Given the description of an element on the screen output the (x, y) to click on. 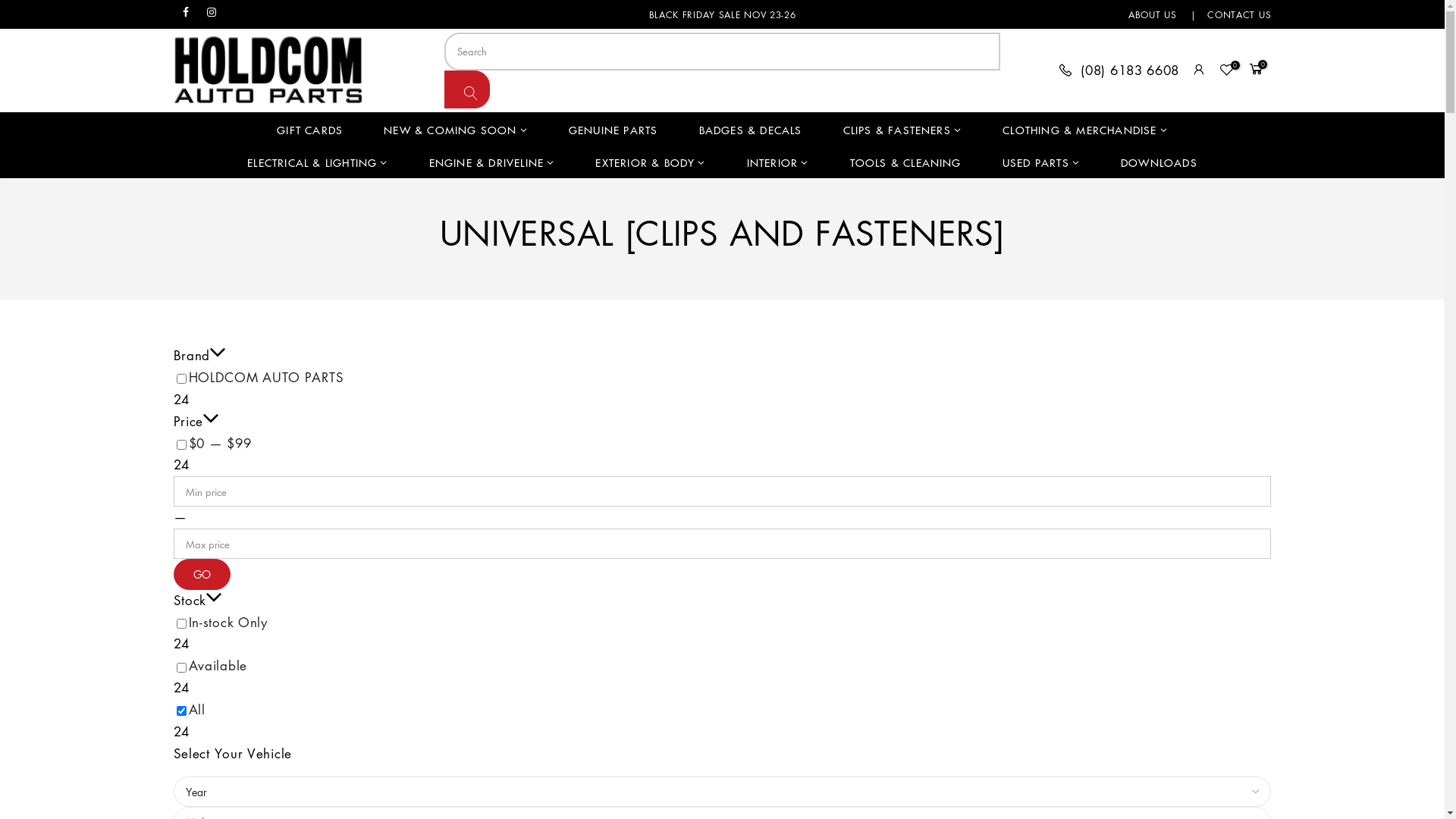
ENGINE & DRIVELINE Element type: text (491, 161)
TOOLS & CLEANING Element type: text (905, 161)
CLOTHING & MERCHANDISE Element type: text (1085, 128)
DOWNLOADS Element type: text (1158, 161)
Search Element type: hover (466, 89)
NEW & COMING SOON Element type: text (455, 128)
HOLDCOM AUTO PARTS Element type: text (266, 376)
0 Element type: text (1227, 70)
ELECTRICAL & LIGHTING Element type: text (316, 161)
BADGES & DECALS Element type: text (749, 128)
GIFT CARDS Element type: text (309, 128)
GENUINE PARTS Element type: text (613, 128)
(08) 6183 6608 Element type: text (1118, 70)
CONTACT US Element type: text (1238, 13)
EXTERIOR & BODY Element type: text (649, 161)
0 Element type: text (1256, 70)
GO Element type: text (201, 573)
USED PARTS Element type: text (1041, 161)
All Element type: text (196, 709)
CLIPS & FASTENERS Element type: text (902, 128)
ABOUT US Element type: text (1152, 13)
INTERIOR Element type: text (777, 161)
In-stock Only Element type: text (227, 621)
Available Element type: text (217, 665)
